Given the description of an element on the screen output the (x, y) to click on. 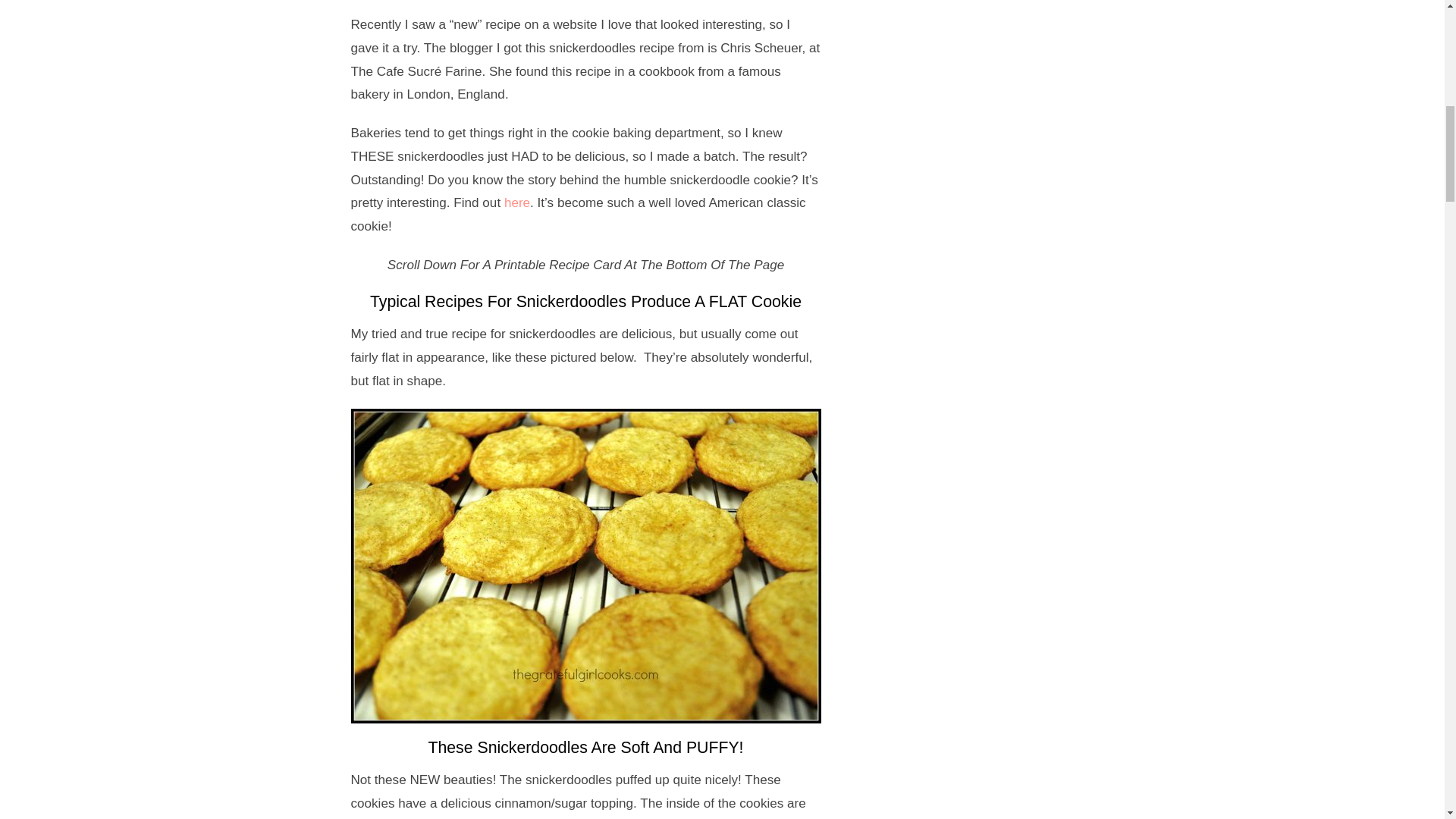
here (516, 202)
